Given the description of an element on the screen output the (x, y) to click on. 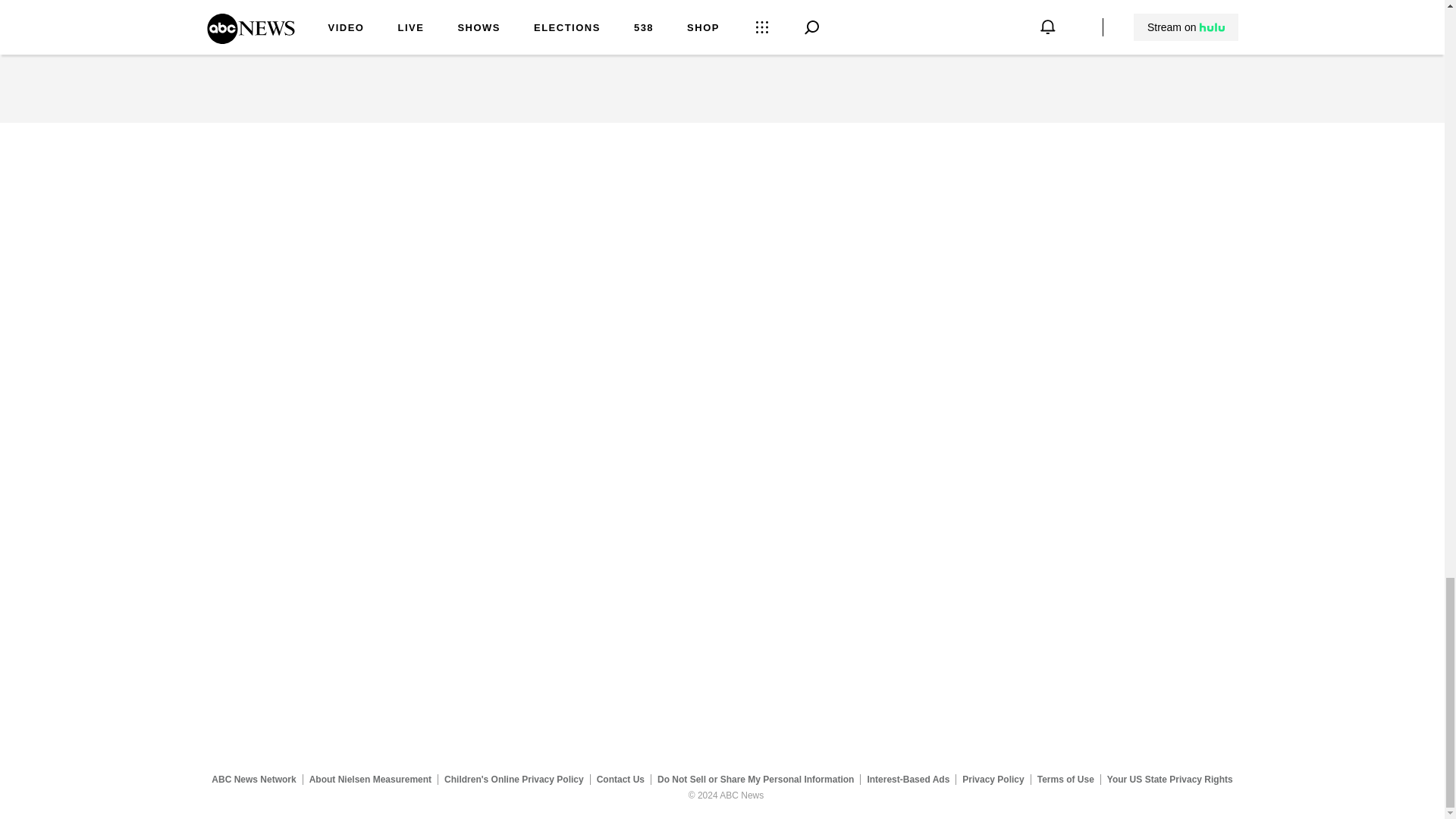
Children's Online Privacy Policy (514, 778)
Privacy Policy (993, 778)
ABC News Network (253, 778)
Contact Us (620, 778)
Interest-Based Ads (908, 778)
Your US State Privacy Rights (1169, 778)
Terms of Use (1065, 778)
About Nielsen Measurement (370, 778)
Do Not Sell or Share My Personal Information (755, 778)
